Given the description of an element on the screen output the (x, y) to click on. 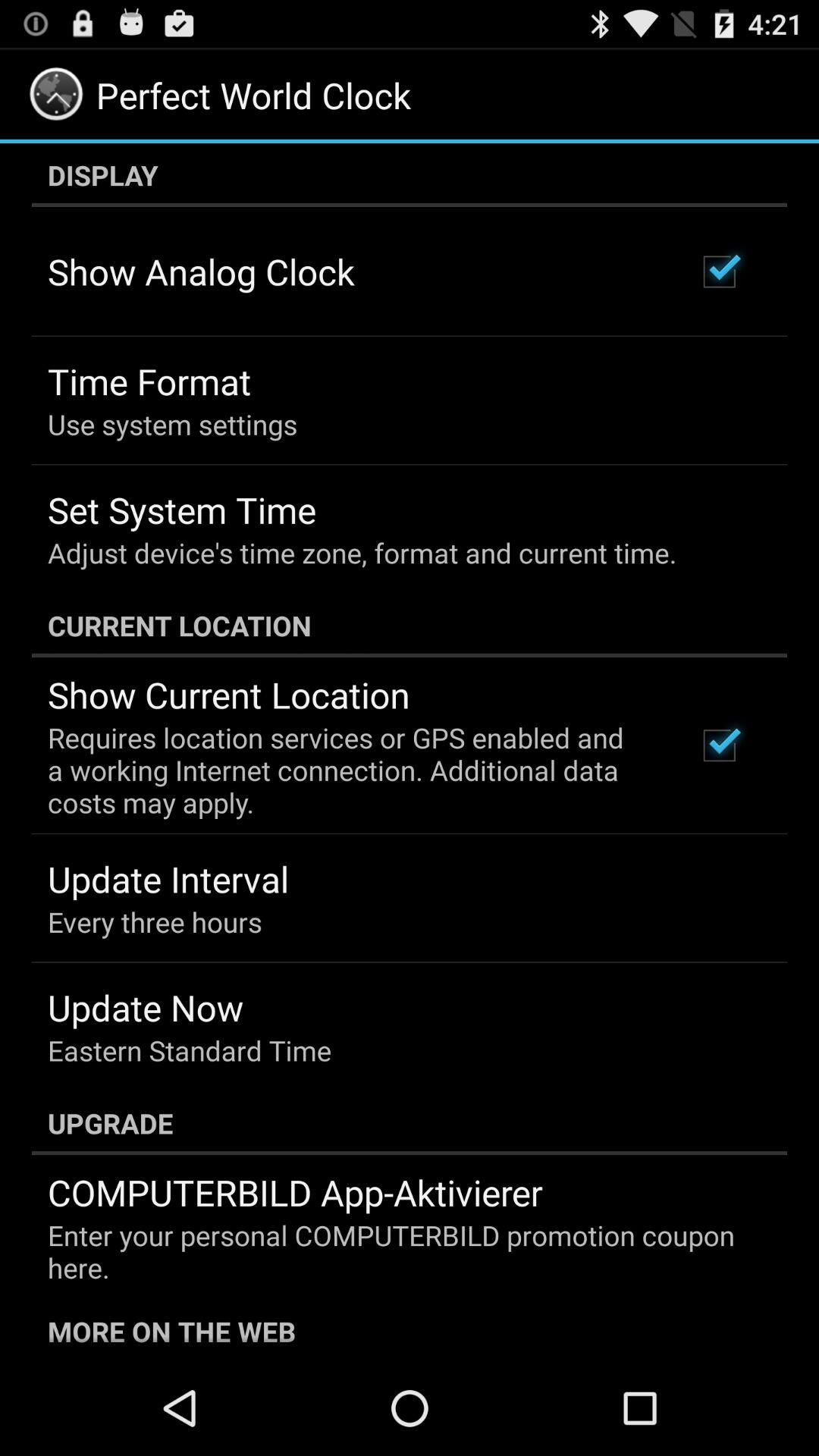
tap item above current location app (361, 552)
